Given the description of an element on the screen output the (x, y) to click on. 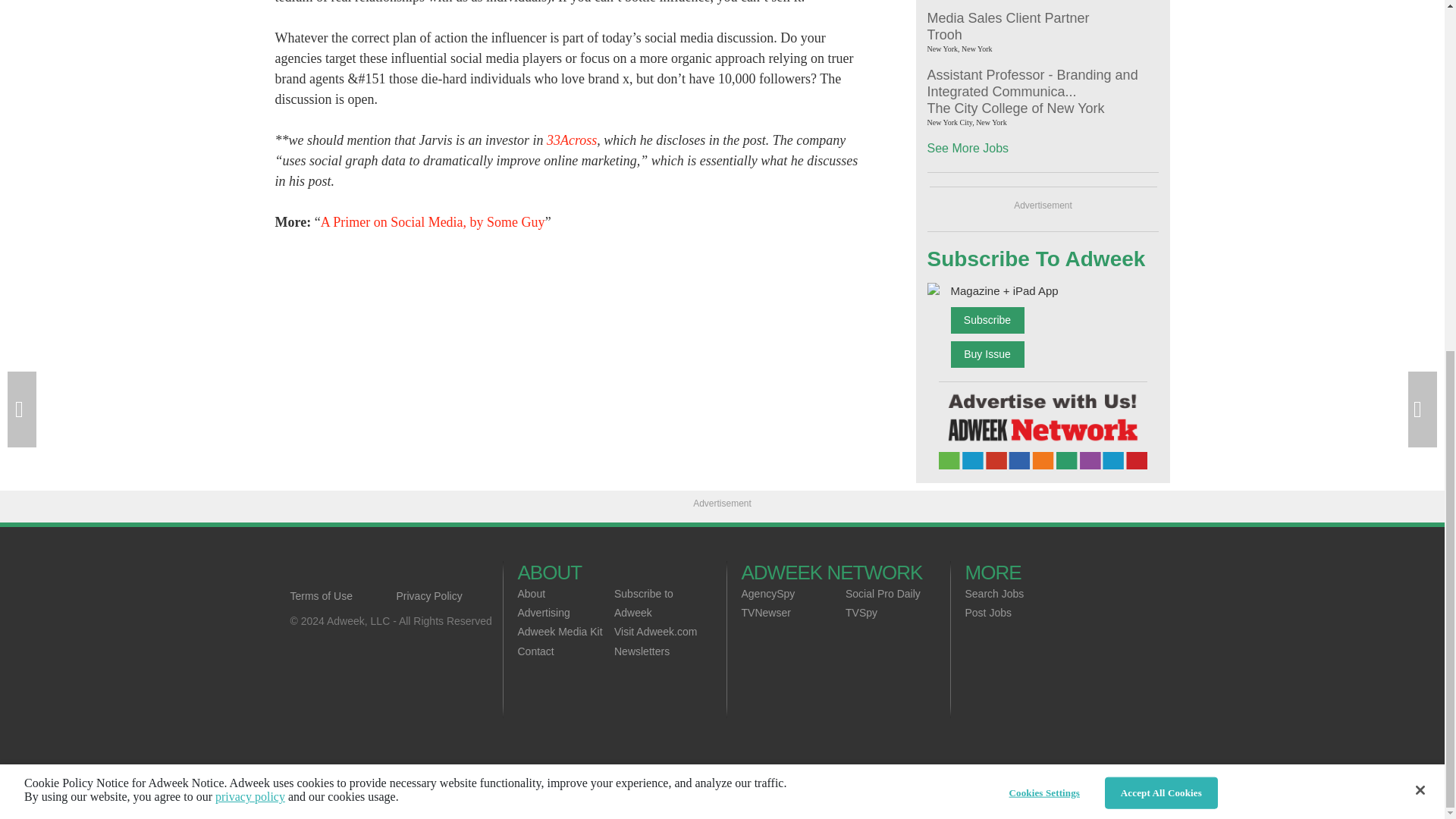
Covering the ad agency world (395, 572)
